Given the description of an element on the screen output the (x, y) to click on. 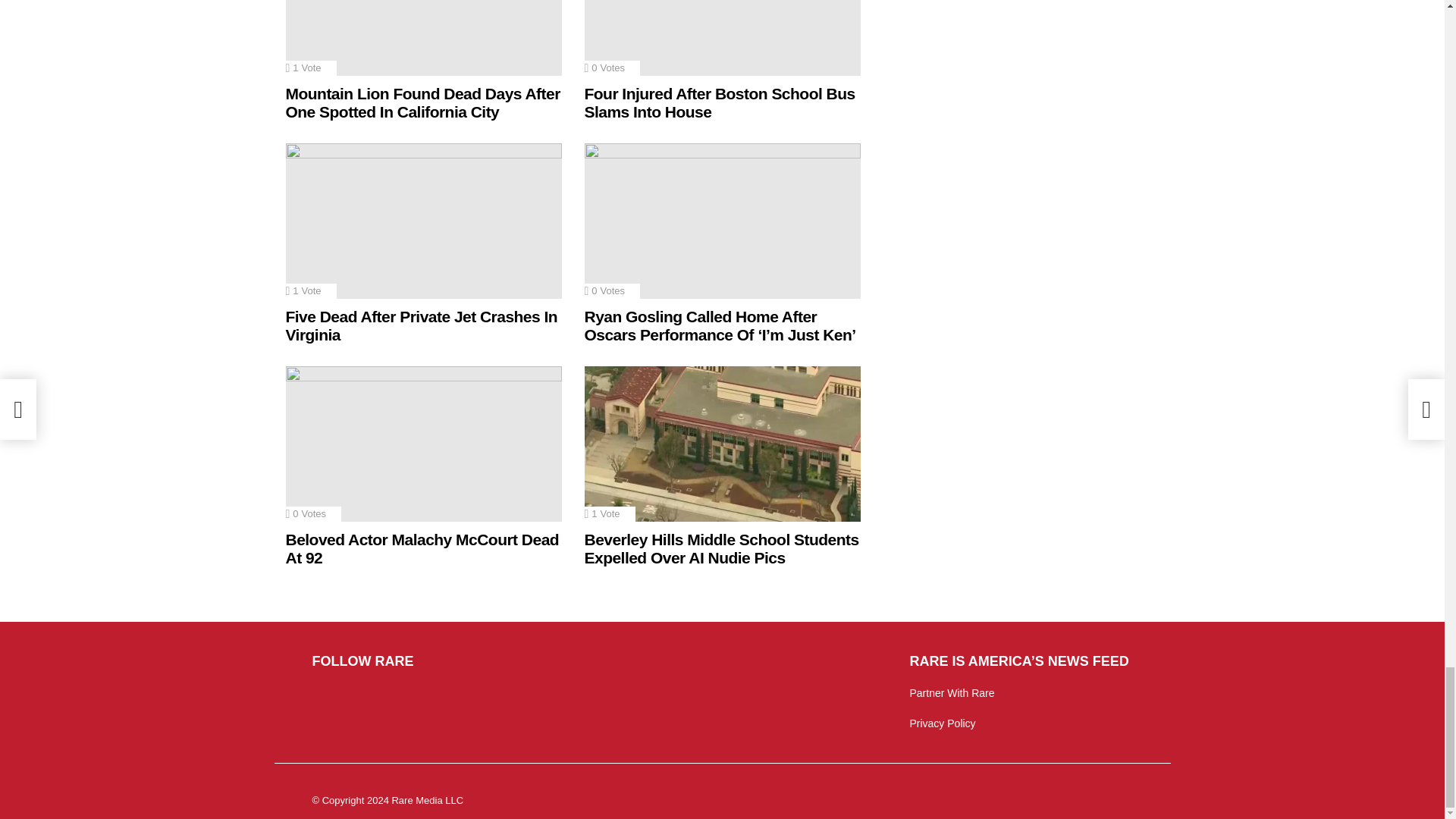
Four Injured After Boston School Bus Slams Into House (721, 38)
Five Dead After Private Jet Crashes In Virginia (422, 220)
